Given the description of an element on the screen output the (x, y) to click on. 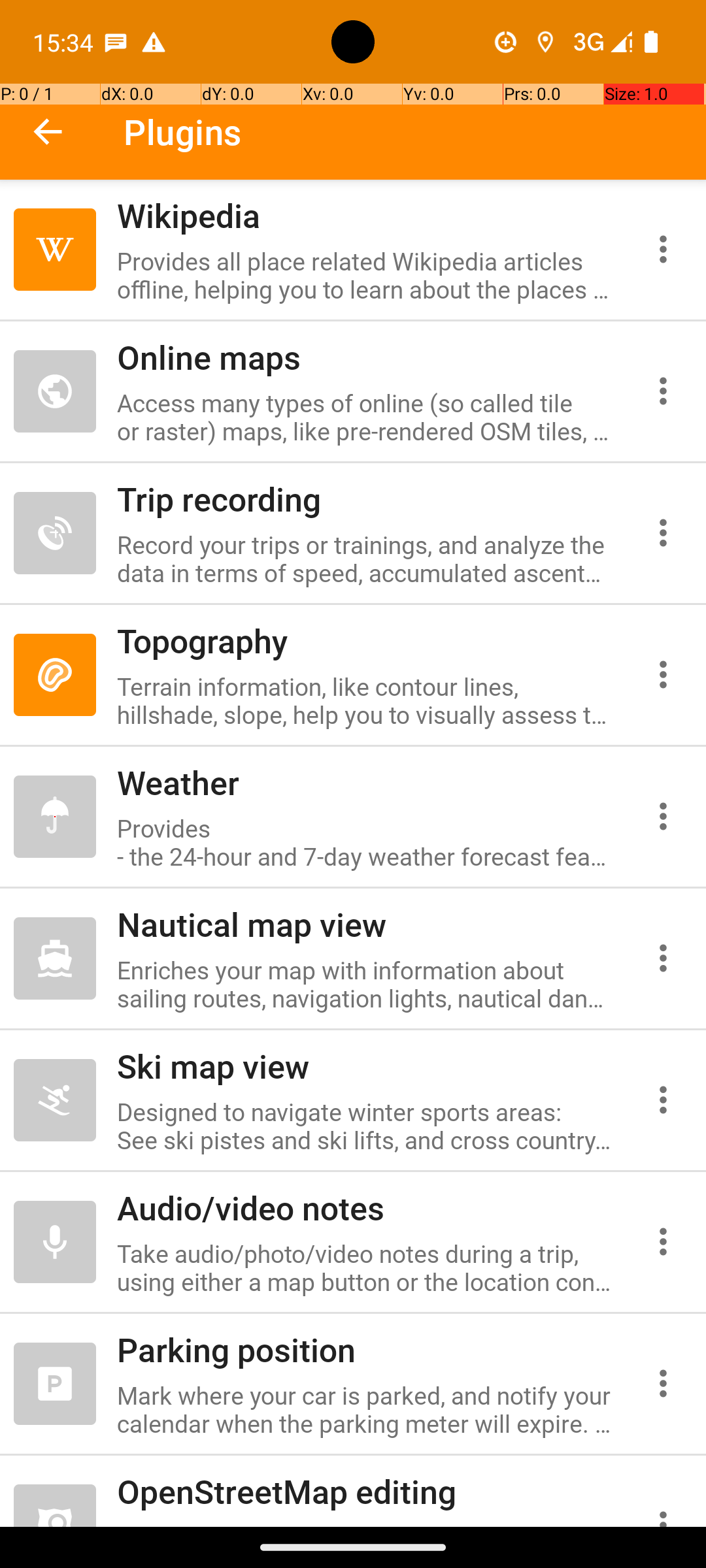
Plugins Element type: android.widget.TextView (182, 131)
Disable Element type: android.widget.ImageButton (54, 249)
Wikipedia Element type: android.widget.TextView (365, 215)
Provides all place related Wikipedia articles offline, helping you to learn about the places you visit on your trip by simple taps on the map. Don't forget to download the Wikipedia map files for the respective regions. Element type: android.widget.TextView (365, 274)
More… Element type: android.widget.ImageButton (663, 249)
Enable Element type: android.widget.ImageButton (54, 391)
Online maps Element type: android.widget.TextView (365, 356)
Access many types of online (so called tile or raster) maps, like pre-rendered OSM tiles, satellite images, and special purpose layers like weather maps, climate maps, geological maps, hillshade layers, etc.

 Any of these maps can be displayed as the main (base) map, or as an overlay or underlay to another base map (like OsmAnd's offline vector maps). Certain elements of the OsmAnd vector maps can be hidden via the 'Configure map' menu to make any underlay map more visible.

 Download tile maps directly, or copy them as SQLite database files to OsmAnd's data folder using one of the many third-party map preparation tools. Element type: android.widget.TextView (365, 416)
Trip recording Element type: android.widget.TextView (365, 498)
Record your trips or trainings, and analyze the data in terms of speed, accumulated ascents and descents, elevation profile, etc. Recorded tracks can be archived, shared with friends, edited, and post-processed.

Further reading at https://osmand.net/docs/user/plugins/trip-recording. Element type: android.widget.TextView (365, 558)
Topography Element type: android.widget.TextView (365, 640)
Terrain information, like contour lines, hillshade, slope, help you to visually assess the lay of the land, the relief, navigability, and more. The topographic information can on the map be represented by contour lines, relief shading and/or steepness coloring.

The underlying data originates from SRTM and ASTER.

Further reading at http://osmand.net/docs/user/plugins/contour-lines. Element type: android.widget.TextView (365, 700)
Not installed Element type: android.widget.ImageButton (54, 816)
Weather Element type: android.widget.TextView (365, 782)
Provides
- the 24-hour and 7-day weather forecast featuring 5 layers
- location-based widgets
- the temperature / pressure isolines

The weather data is provided by the Global Forecast System (GFS, https://www.ncei.noaa.gov/products/weather-climate-models/global-forecast). Element type: android.widget.TextView (365, 841)
Nautical map view Element type: android.widget.TextView (365, 924)
Enriches your map with information about sailing routes, navigation lights, nautical danger zones, zones with sailing or docking restrictions, etc. To use, download the respective Nautical maps and enable the "Nautical map" style under "Configure map". 

Further reading at https://osmand.net/docs/user/plugins/nautical-charts. Element type: android.widget.TextView (365, 983)
Ski map view Element type: android.widget.TextView (365, 1065)
Designed to navigate winter sports areas: See ski pistes and ski lifts, and cross country ski tracks, with colored lines indicating the difficulty ratings. To use, enable this plugin and also go to "Configure map" and choose the "Winter and ski" map style. Element type: android.widget.TextView (365, 1125)
Audio/video notes Element type: android.widget.TextView (365, 1207)
Take audio/photo/video notes during a trip, using either a map button or the location context menu. Element type: android.widget.TextView (365, 1267)
Parking position Element type: android.widget.TextView (365, 1349)
Mark where your car is parked, and notify your calendar when the parking meter will expire. To place the marker, choose a place on the map, go to "Actions", and tap "Add parking". Element type: android.widget.TextView (365, 1408)
OpenStreetMap editing Element type: android.widget.TextView (365, 1491)
Make contributions to OpenStreetMap, a global community maintaining a comprehensive map of the world and providing up-to date open-source data to every user. 

You can find instructions on how to edit the map on our website https://osmand.net/docs/user/plugins/osm-editing. Element type: android.widget.TextView (365, 1523)
